Given the description of an element on the screen output the (x, y) to click on. 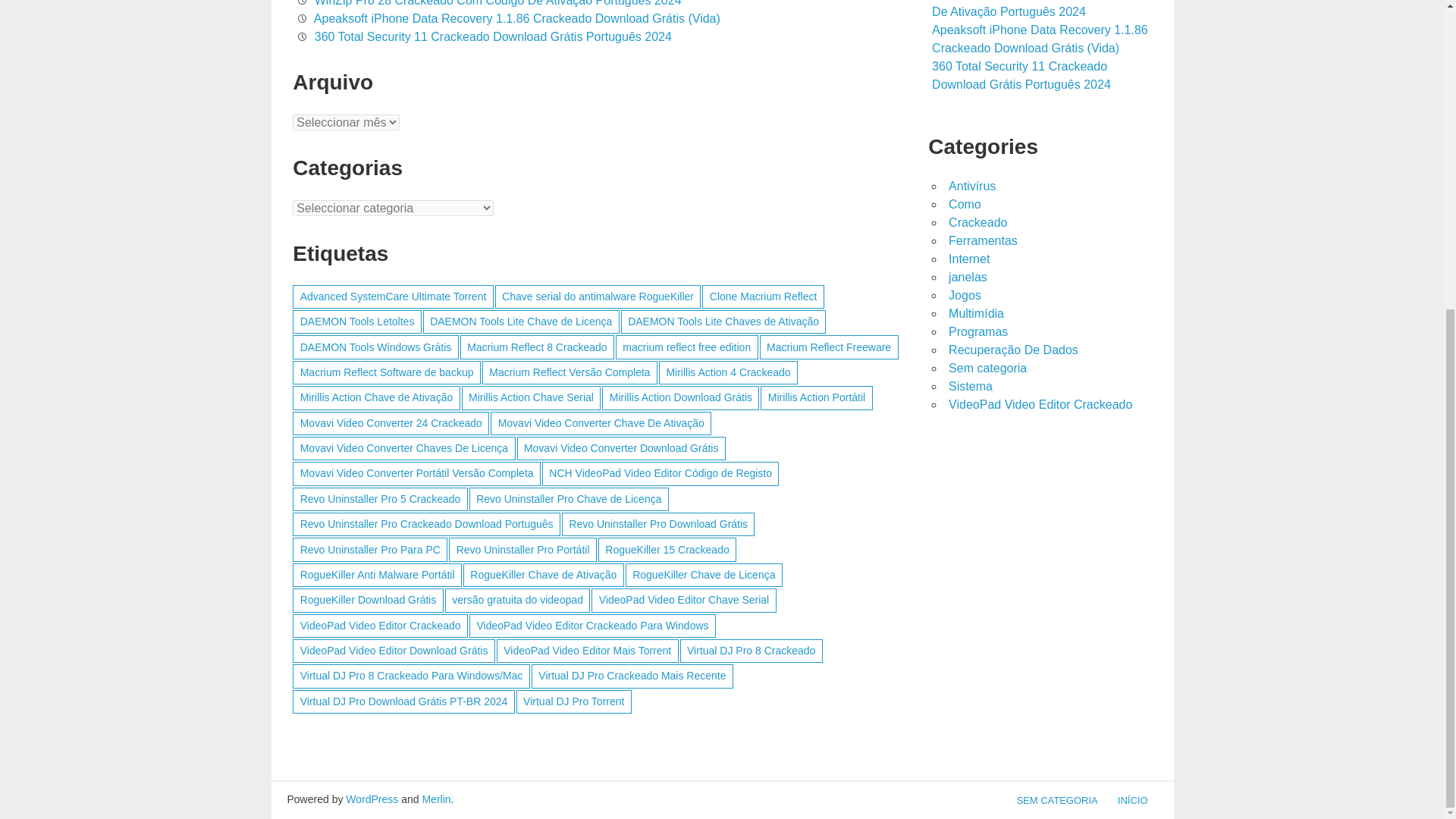
Merlin WordPress Theme (435, 799)
Macrium Reflect Freeware (829, 346)
Revo Uninstaller Pro 5 Crackeado (379, 499)
Chave serial do antimalware RogueKiller (598, 296)
Macrium Reflect Software de backup (386, 372)
Mirillis Action Chave Serial (531, 397)
Movavi Video Converter 24 Crackeado (390, 422)
DAEMON Tools Letoltes (356, 321)
Mirillis Action 4 Crackeado (728, 372)
WordPress (371, 799)
Macrium Reflect 8 Crackeado (537, 346)
Advanced SystemCare Ultimate Torrent (392, 296)
macrium reflect free edition (686, 346)
Clone Macrium Reflect (762, 296)
